Given the description of an element on the screen output the (x, y) to click on. 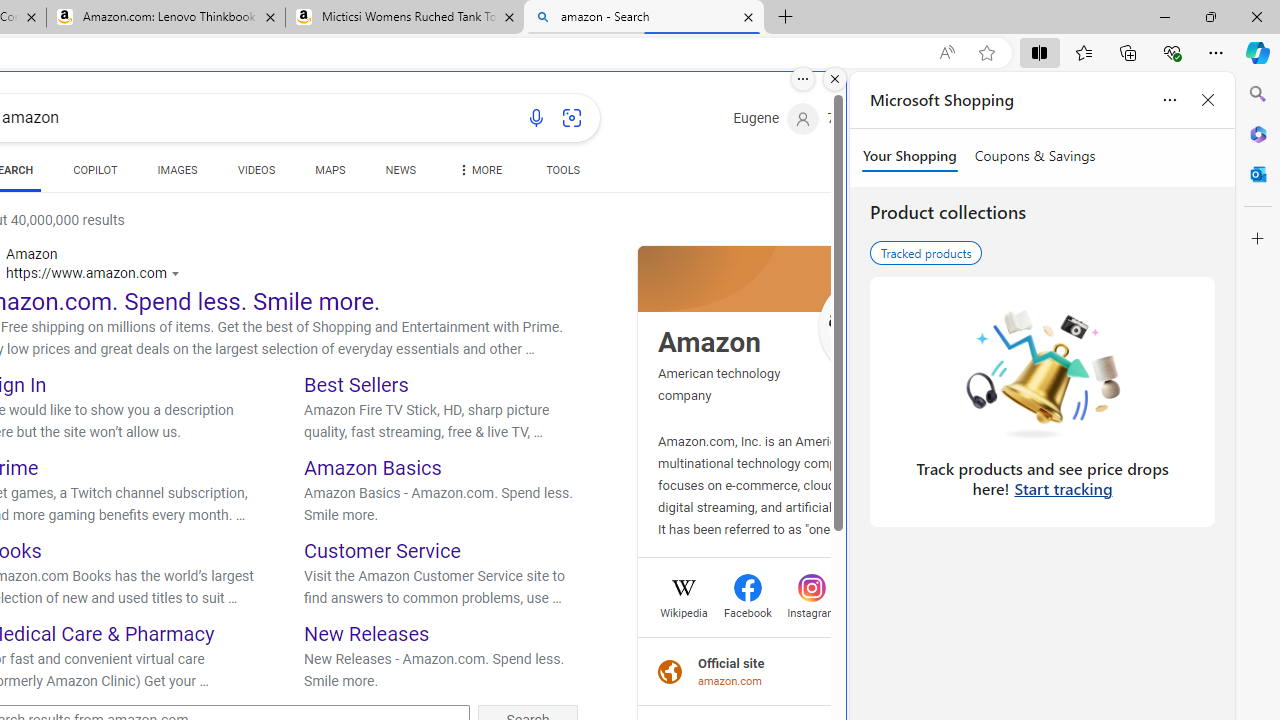
Eugene (776, 119)
Official siteamazon.com (785, 671)
